Given the description of an element on the screen output the (x, y) to click on. 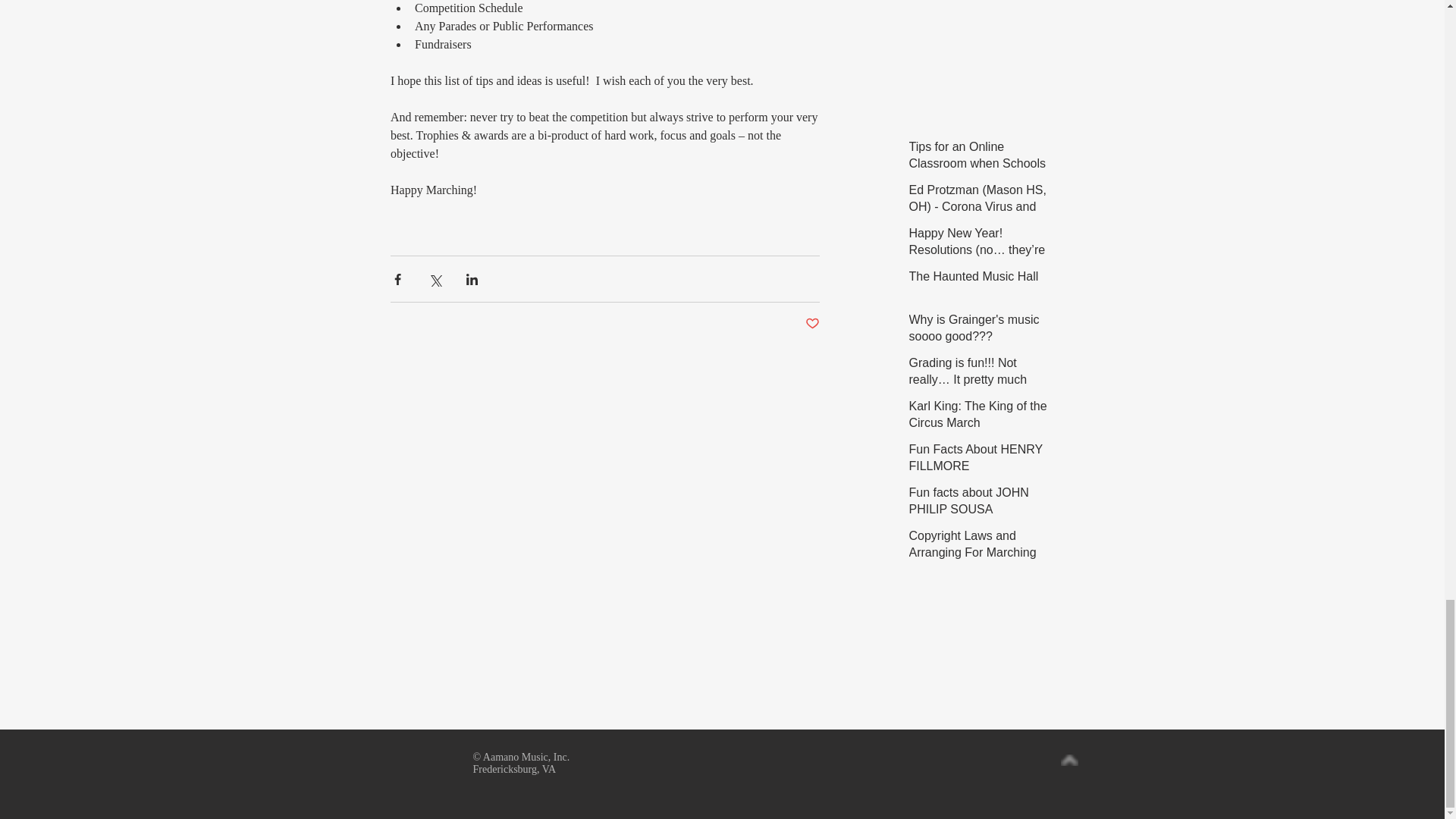
Fun facts about JOHN PHILIP SOUSA (977, 504)
Fun Facts About HENRY FILLMORE (977, 461)
The Haunted Music Hall (977, 279)
Why is Grainger's music soooo good??? (977, 332)
Karl King: The King of the Circus March (977, 418)
Copyright Laws and Arranging For Marching Band (977, 555)
Tips for an Online Classroom when Schools are Cancelled (977, 166)
Post not marked as liked (812, 324)
